Given the description of an element on the screen output the (x, y) to click on. 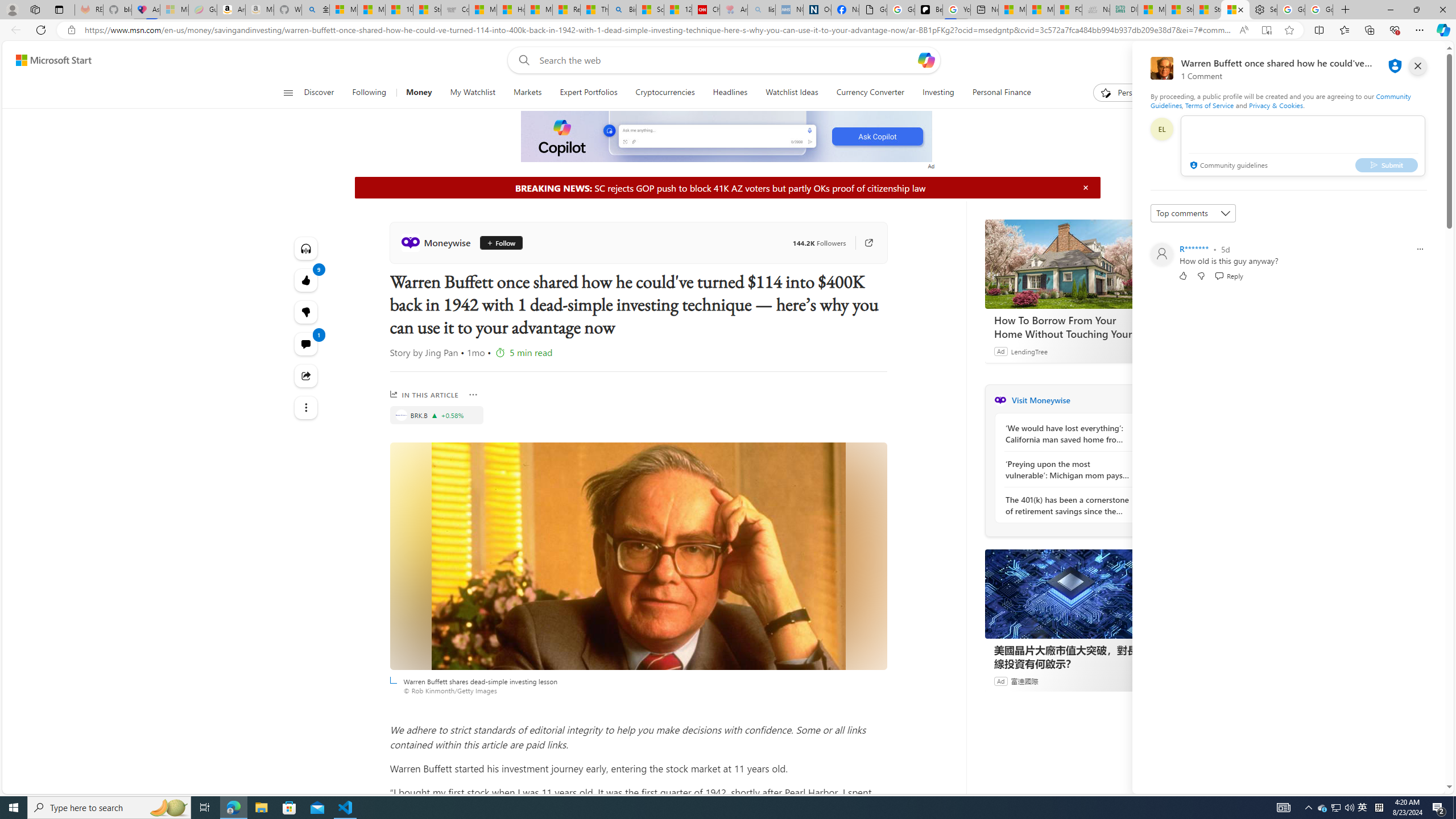
Submit (1386, 164)
Following (368, 92)
Microsoft account | Privacy (343, 9)
Bing (621, 9)
close (1417, 65)
FOX News - MSN (1067, 9)
Personal Finance (996, 92)
Sort comments by (1193, 212)
Enter Immersive Reader (F9) (1266, 29)
